Given the description of an element on the screen output the (x, y) to click on. 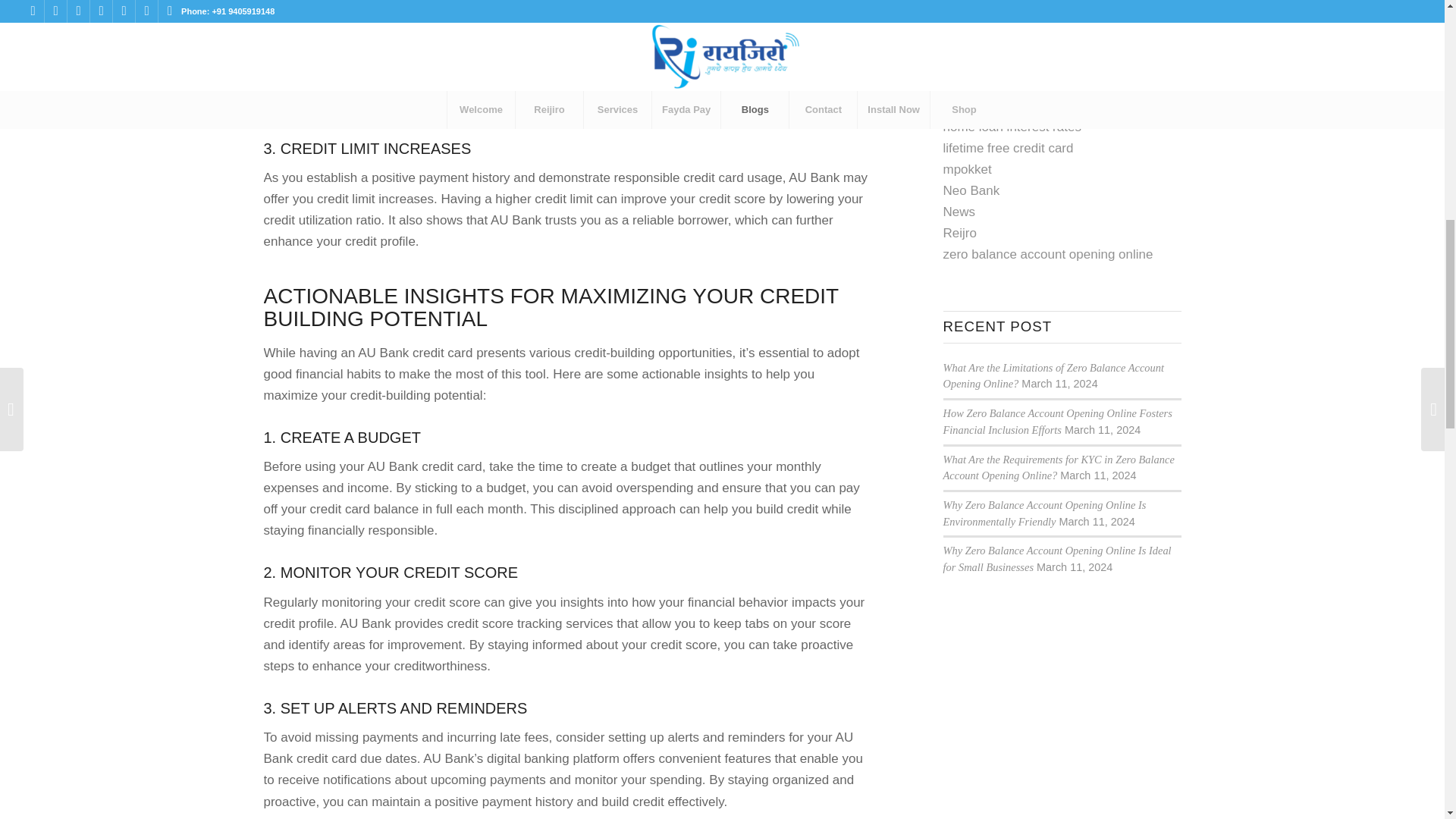
AU Bank Credit Card (1003, 42)
au small finance bank fd rates (1029, 63)
Banking (966, 83)
Financial inclusion (995, 105)
